Given the description of an element on the screen output the (x, y) to click on. 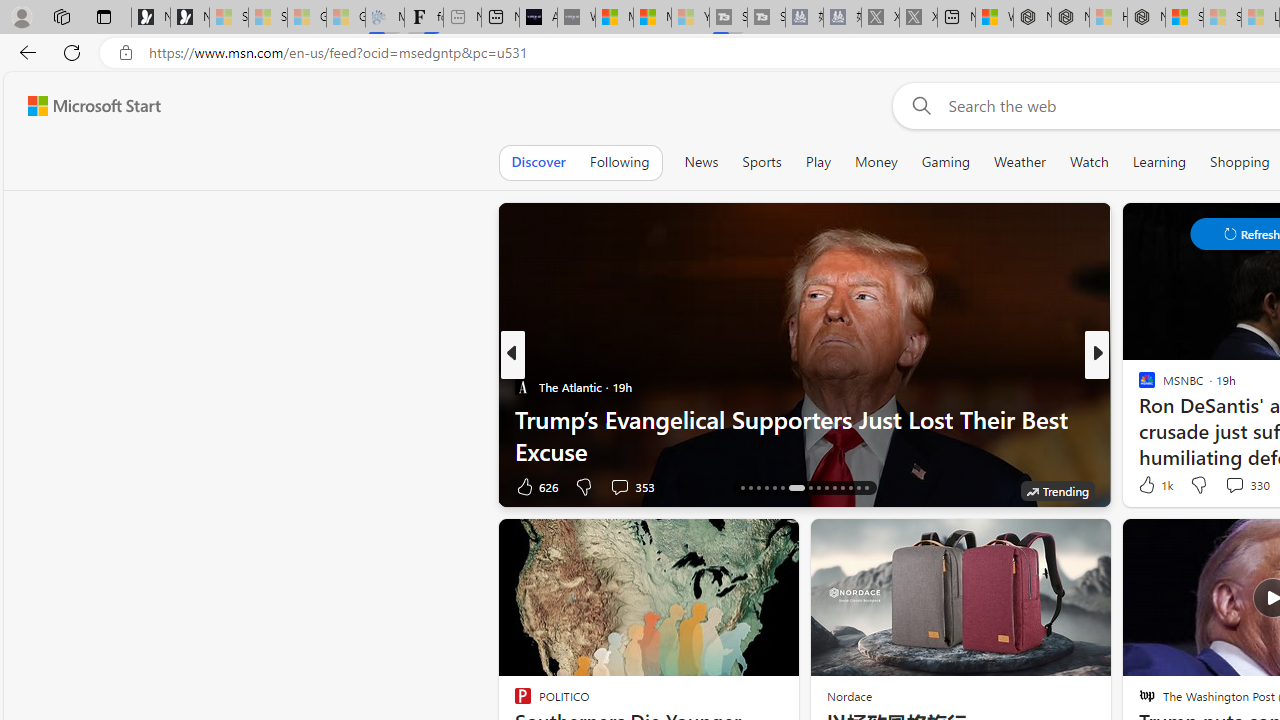
View comments 266 Comment (1234, 485)
Microsoft Start (94, 105)
News (701, 161)
View comments 152 Comment (11, 485)
Nordace - Summer Adventures 2024 (1070, 17)
Play (817, 161)
Skip to content (86, 105)
View comments 266 Comment (1247, 486)
Dislike (1198, 484)
Ad Choice (479, 486)
This story is trending (1057, 490)
